Given the description of an element on the screen output the (x, y) to click on. 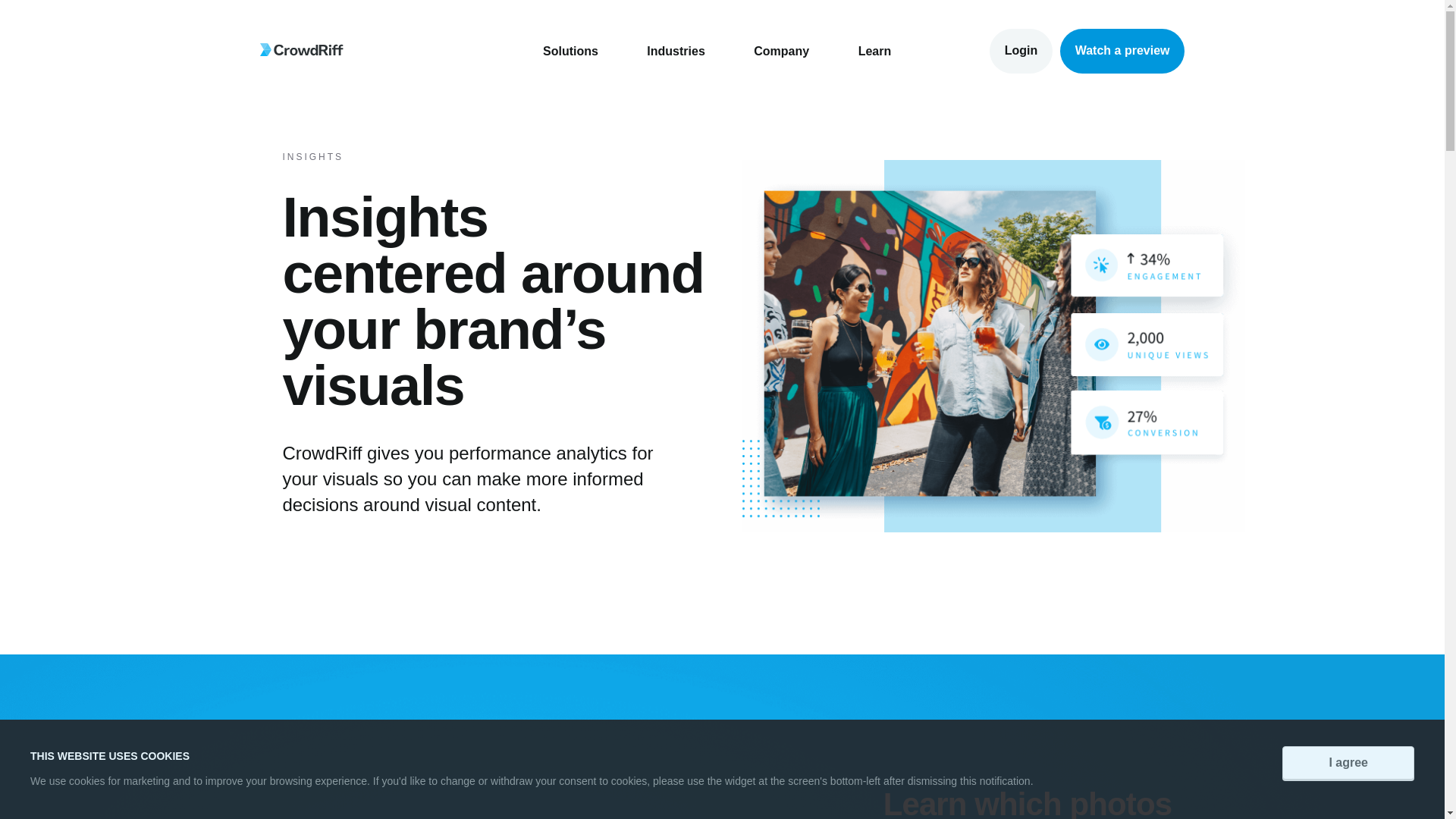
Solutions (570, 51)
Company (780, 51)
Industries (675, 51)
I agree (1347, 762)
Watch a preview (1122, 50)
Login (1021, 50)
Learn (874, 51)
